Given the description of an element on the screen output the (x, y) to click on. 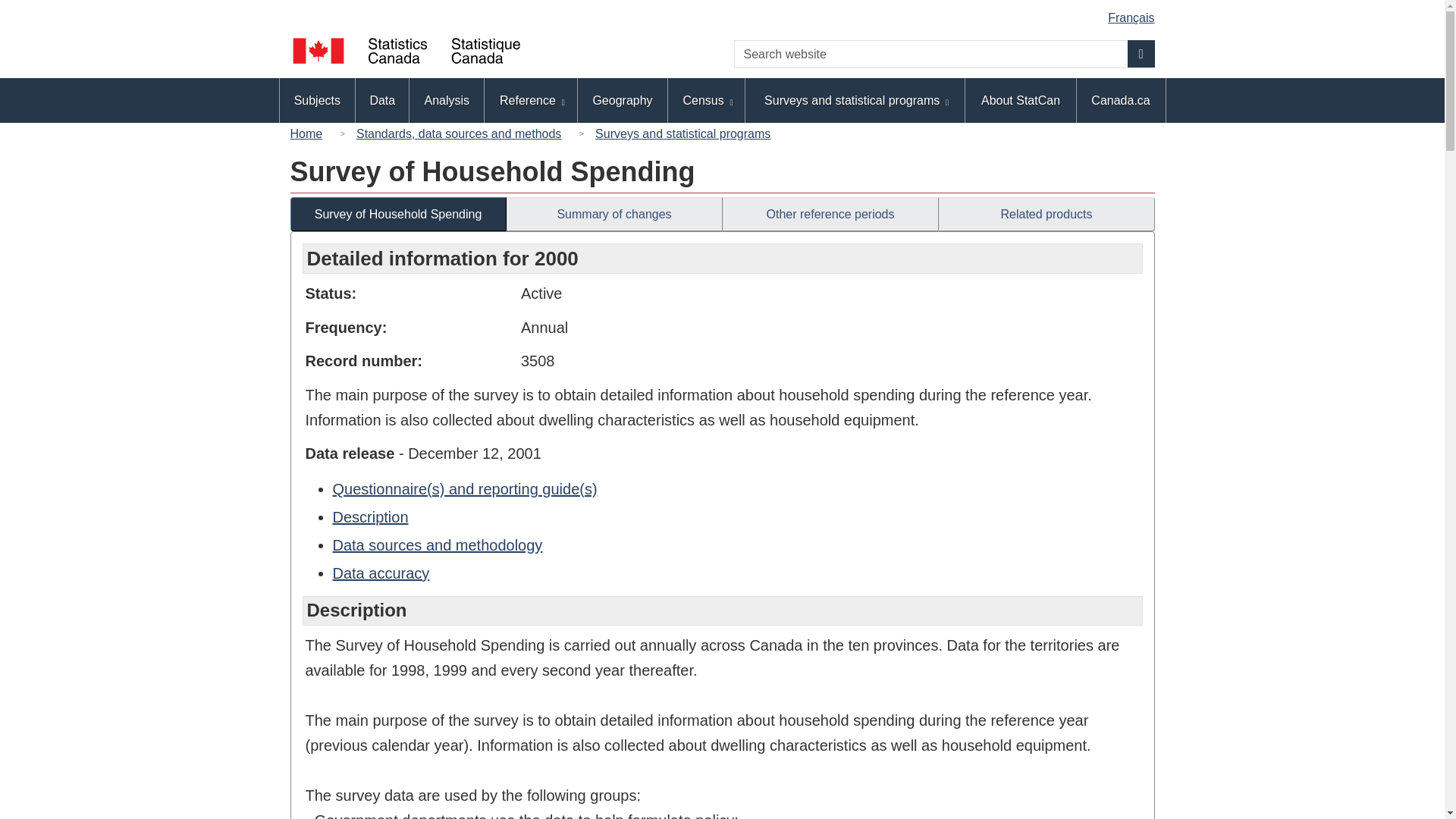
Skip to main content (725, 12)
